Given the description of an element on the screen output the (x, y) to click on. 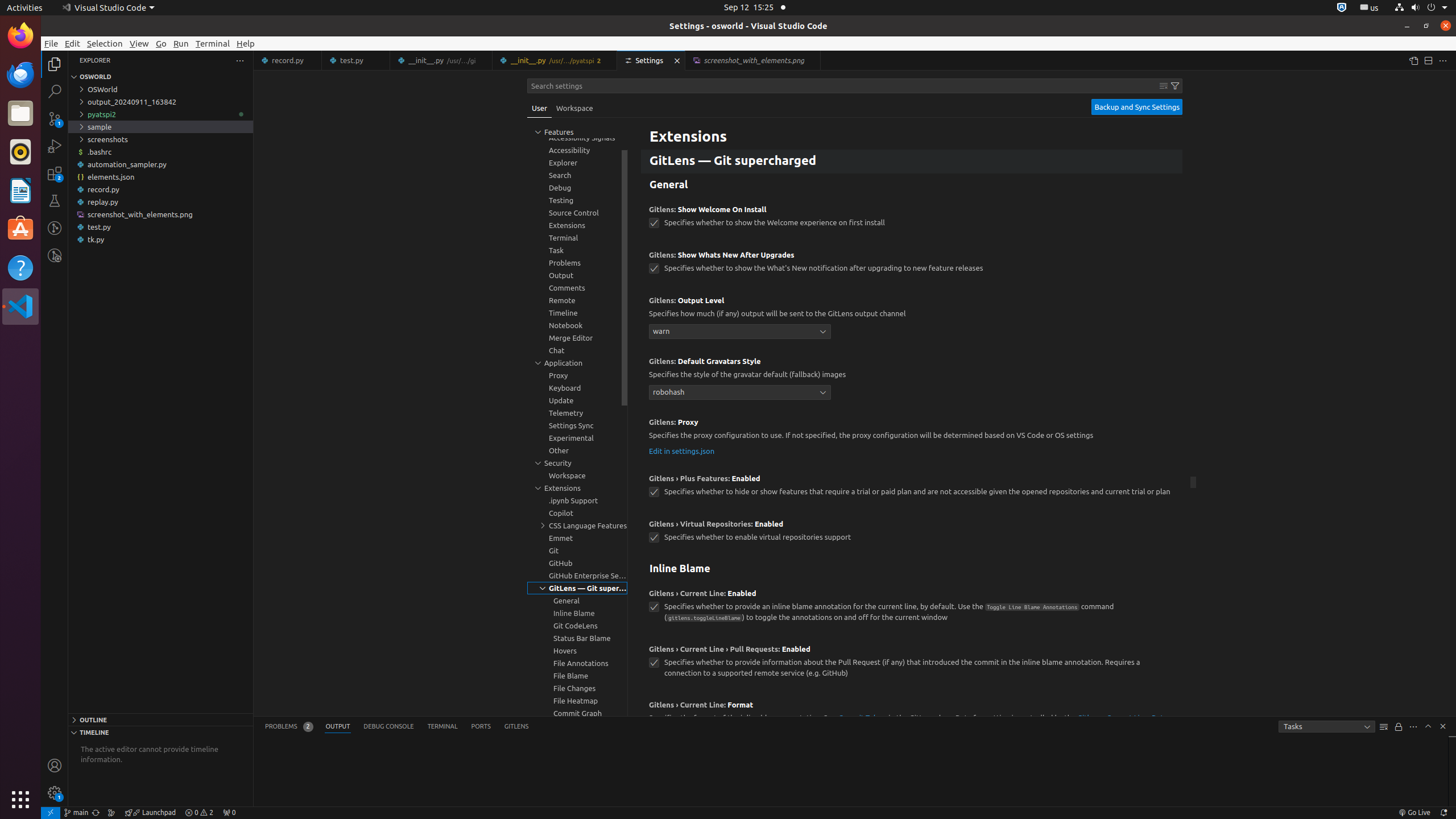
Commit Tokens Element type: link (862, 717)
.bashrc Element type: tree-item (160, 151)
Run and Debug (Ctrl+Shift+D) Element type: page-tab (54, 145)
Views and More Actions... Element type: push-button (1413, 726)
